Given the description of an element on the screen output the (x, y) to click on. 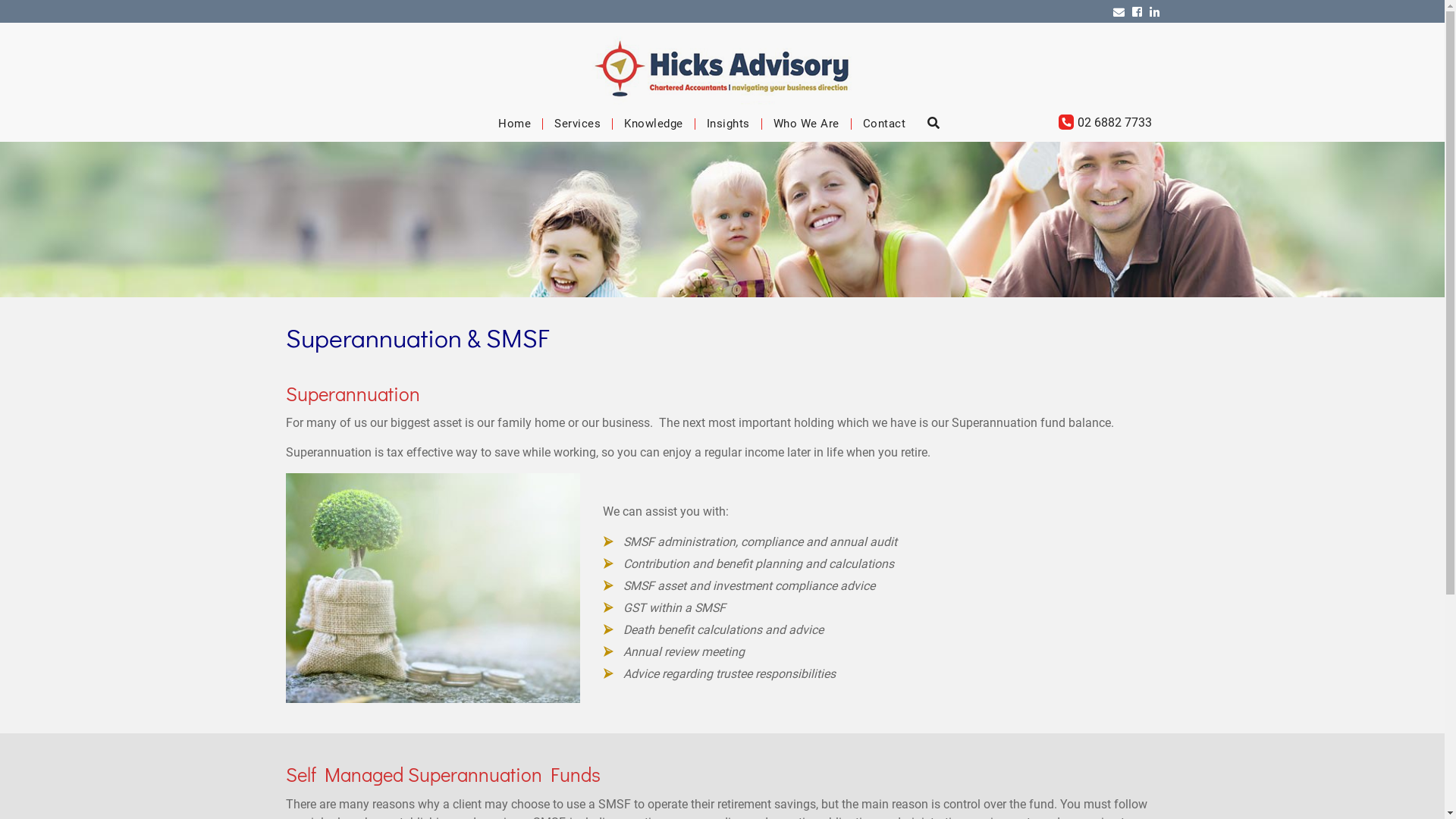
LinkedIn Element type: hover (1154, 11)
Who We Are Element type: text (806, 123)
Services Element type: text (577, 123)
02 6882 7733 Element type: text (1105, 122)
Contact Element type: text (884, 123)
Email Element type: hover (1118, 11)
Facebook Element type: hover (1136, 11)
Home Element type: text (514, 123)
Knowledge Element type: text (653, 123)
Insights Element type: text (727, 123)
